Given the description of an element on the screen output the (x, y) to click on. 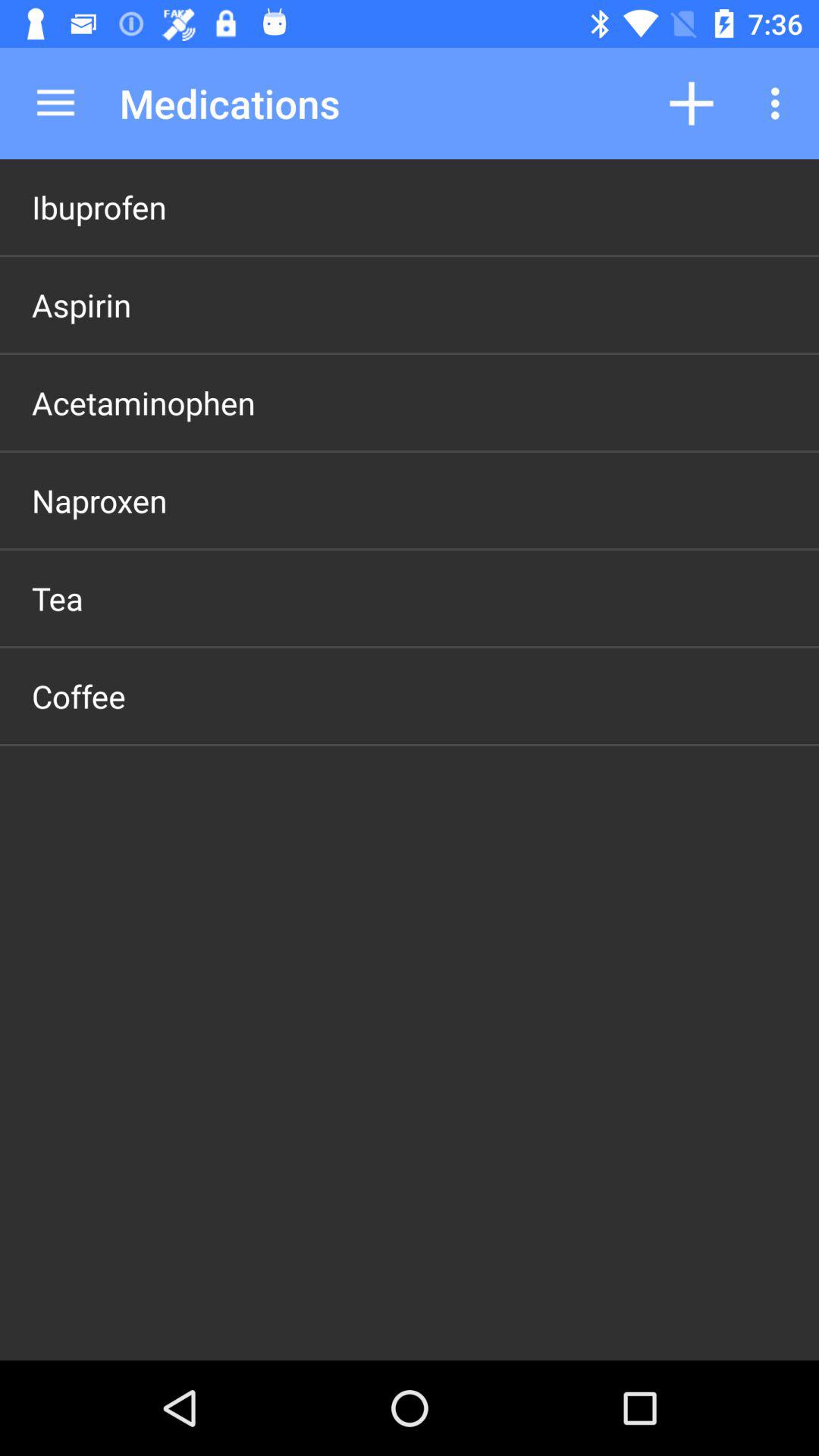
select the item above coffee app (57, 598)
